Given the description of an element on the screen output the (x, y) to click on. 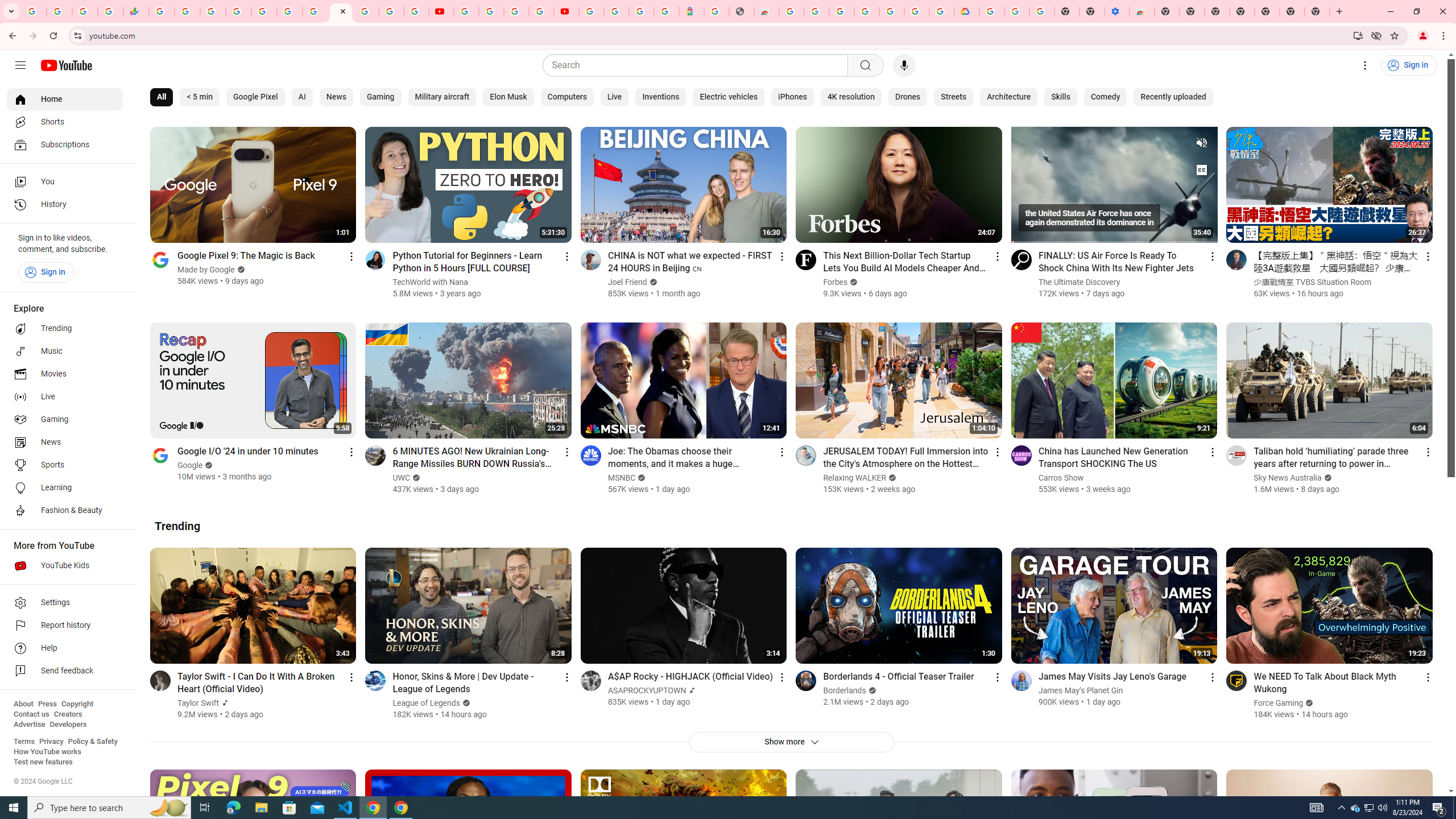
Google Workspace Admin Community (34, 11)
Privacy Checkup (415, 11)
Joel Friend (627, 282)
How YouTube works (47, 751)
Learning (64, 487)
Sign in - Google Accounts (991, 11)
Made by Google (206, 269)
Policy & Safety (91, 741)
Creators (67, 714)
Elon Musk (508, 97)
